Given the description of an element on the screen output the (x, y) to click on. 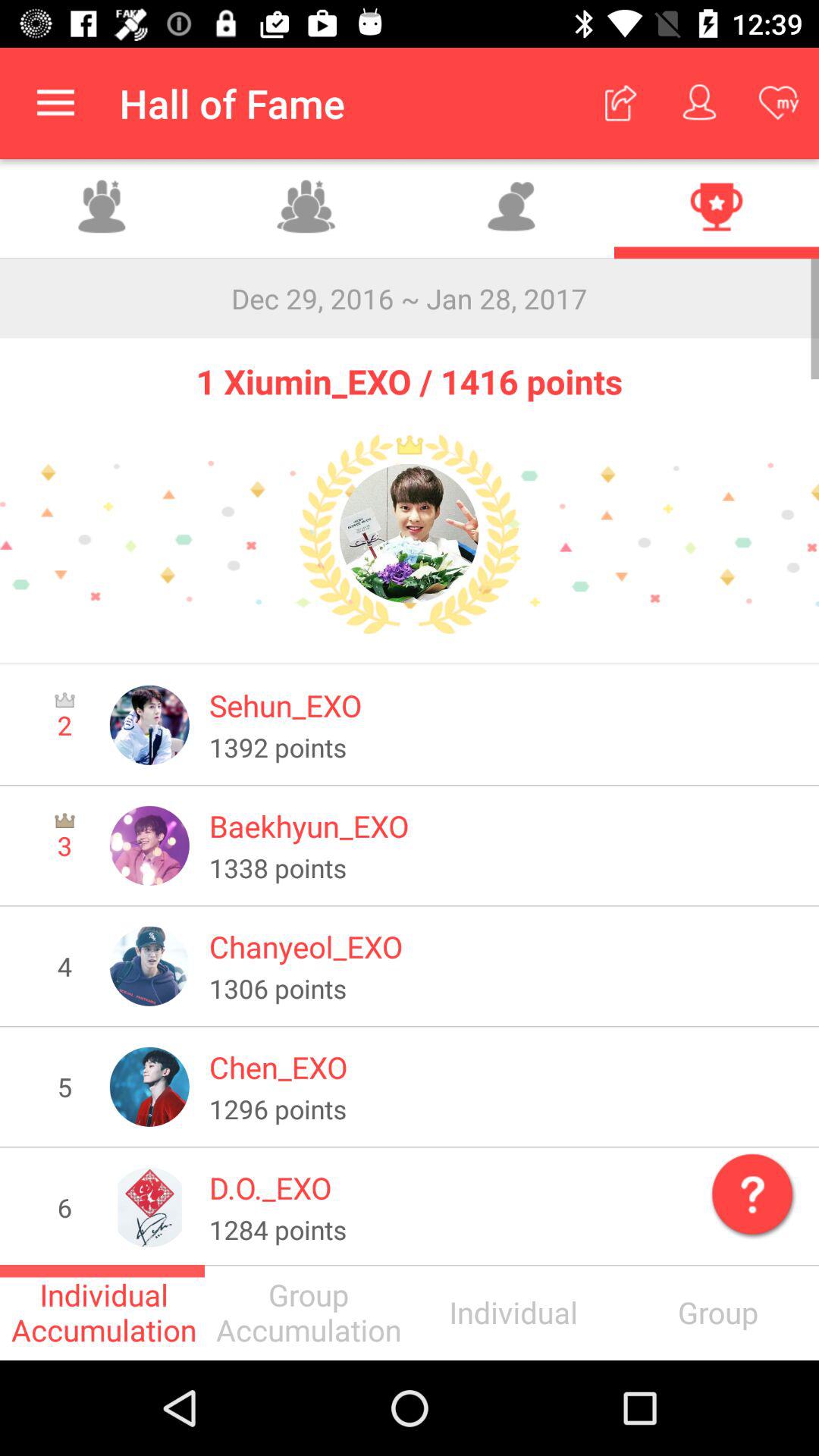
choose the item above chanyeol_exo icon (504, 867)
